Given the description of an element on the screen output the (x, y) to click on. 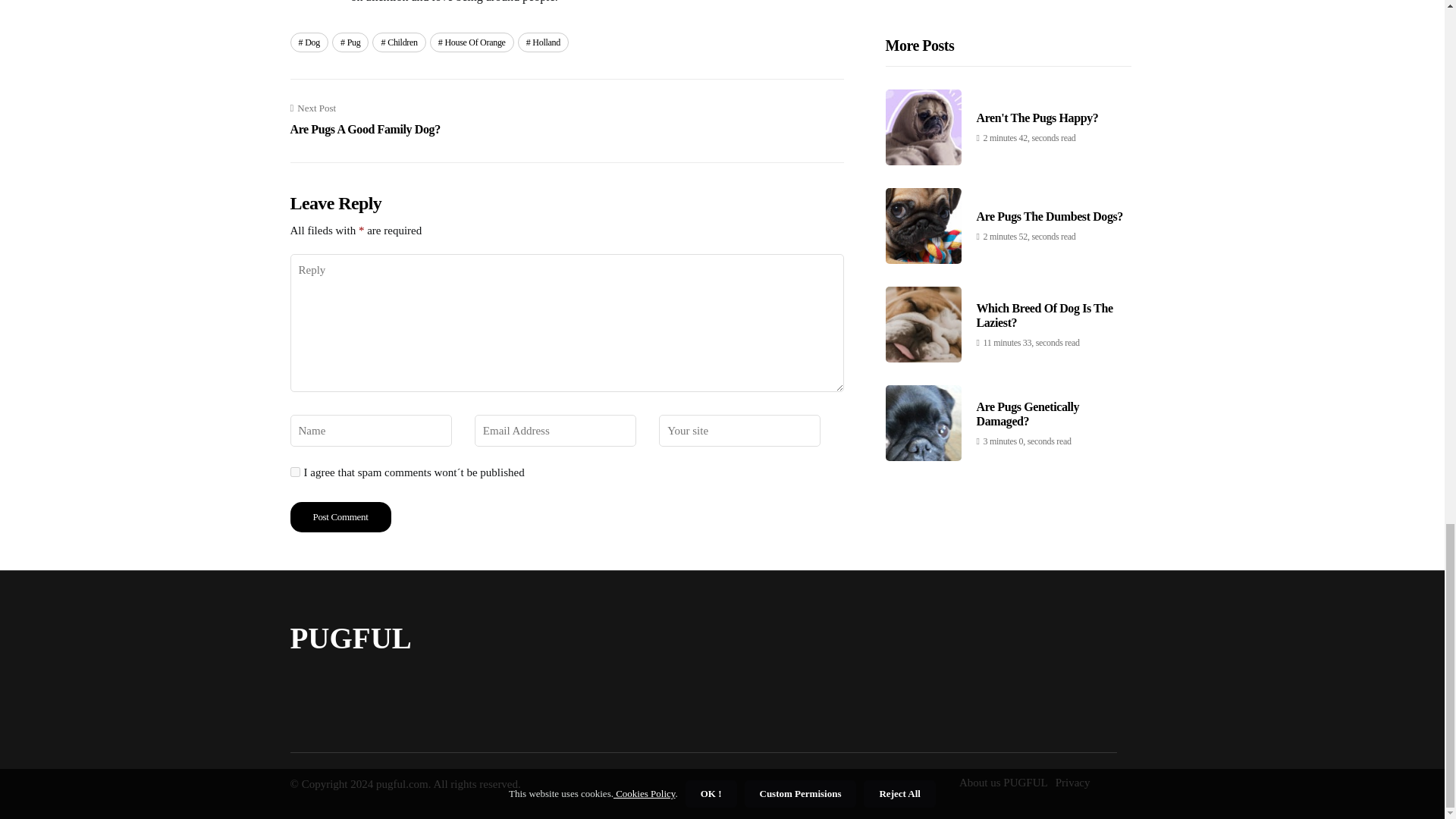
Dog (308, 42)
yes (294, 471)
Post Comment (339, 517)
Holland (543, 42)
Children (364, 119)
House Of Orange (398, 42)
Pug (471, 42)
Post Comment (349, 42)
